Given the description of an element on the screen output the (x, y) to click on. 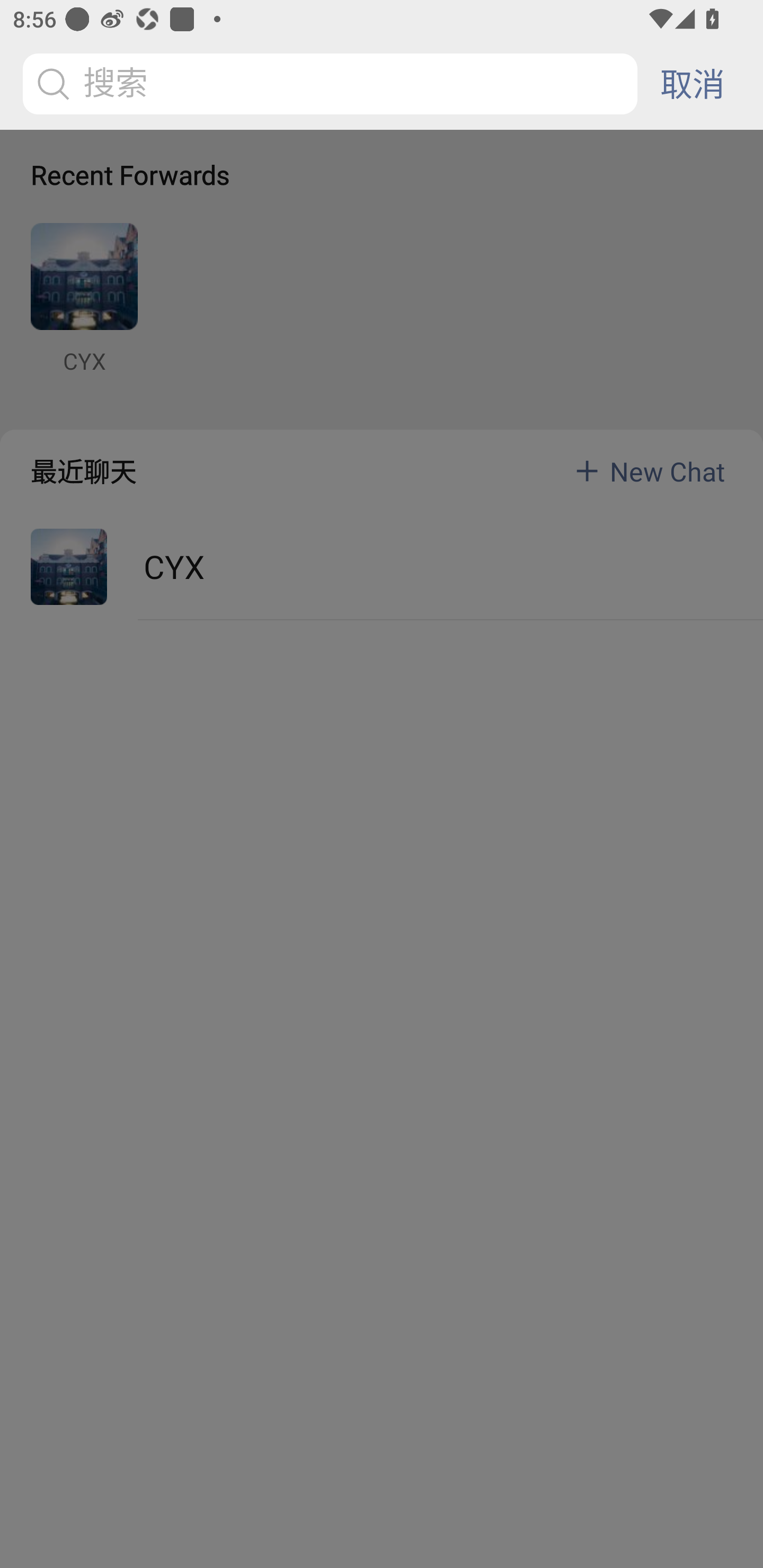
取消 (692, 83)
搜索 (333, 83)
